Given the description of an element on the screen output the (x, y) to click on. 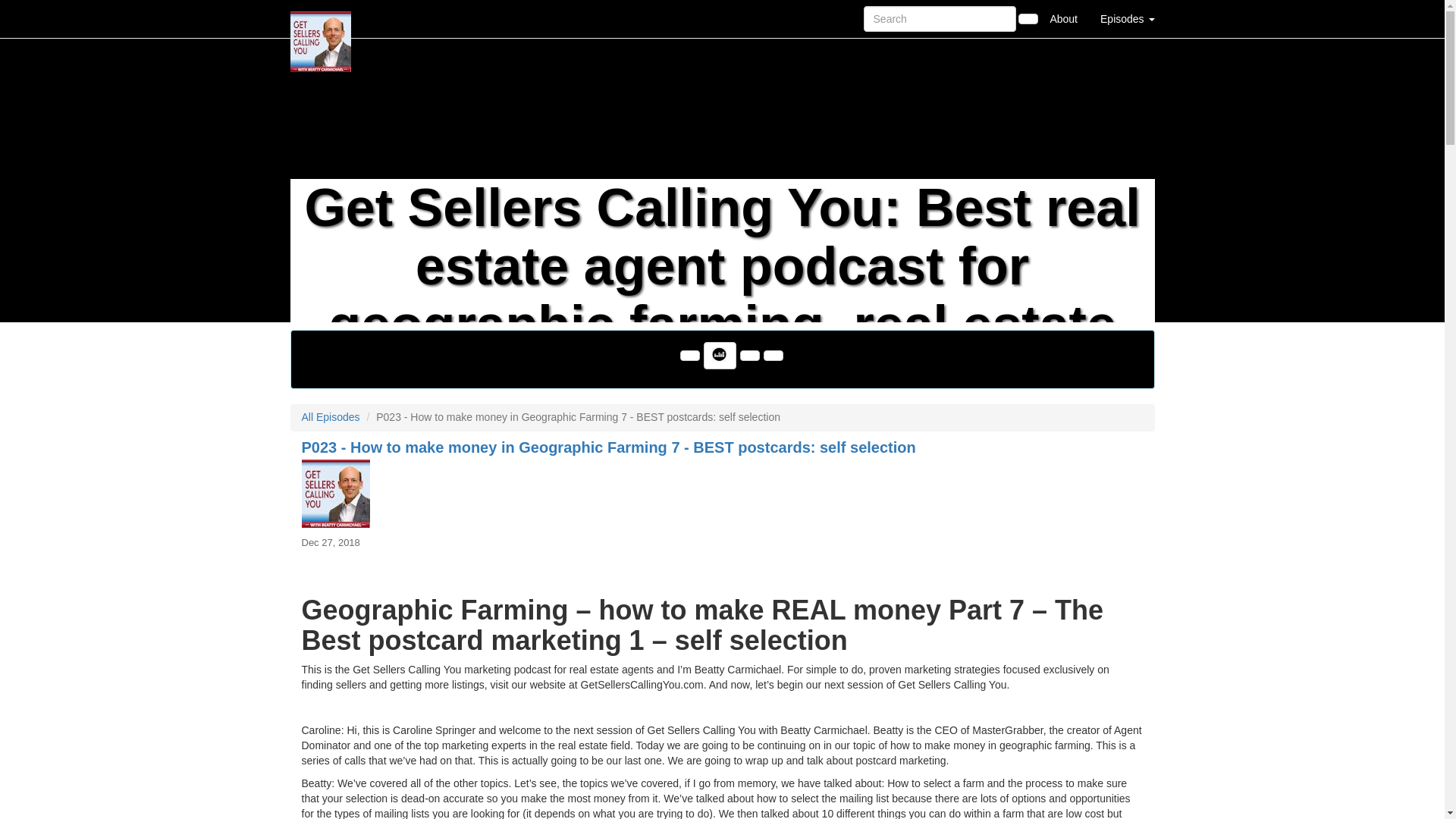
Home Page (320, 18)
About (1063, 18)
Episodes (1127, 18)
